Given the description of an element on the screen output the (x, y) to click on. 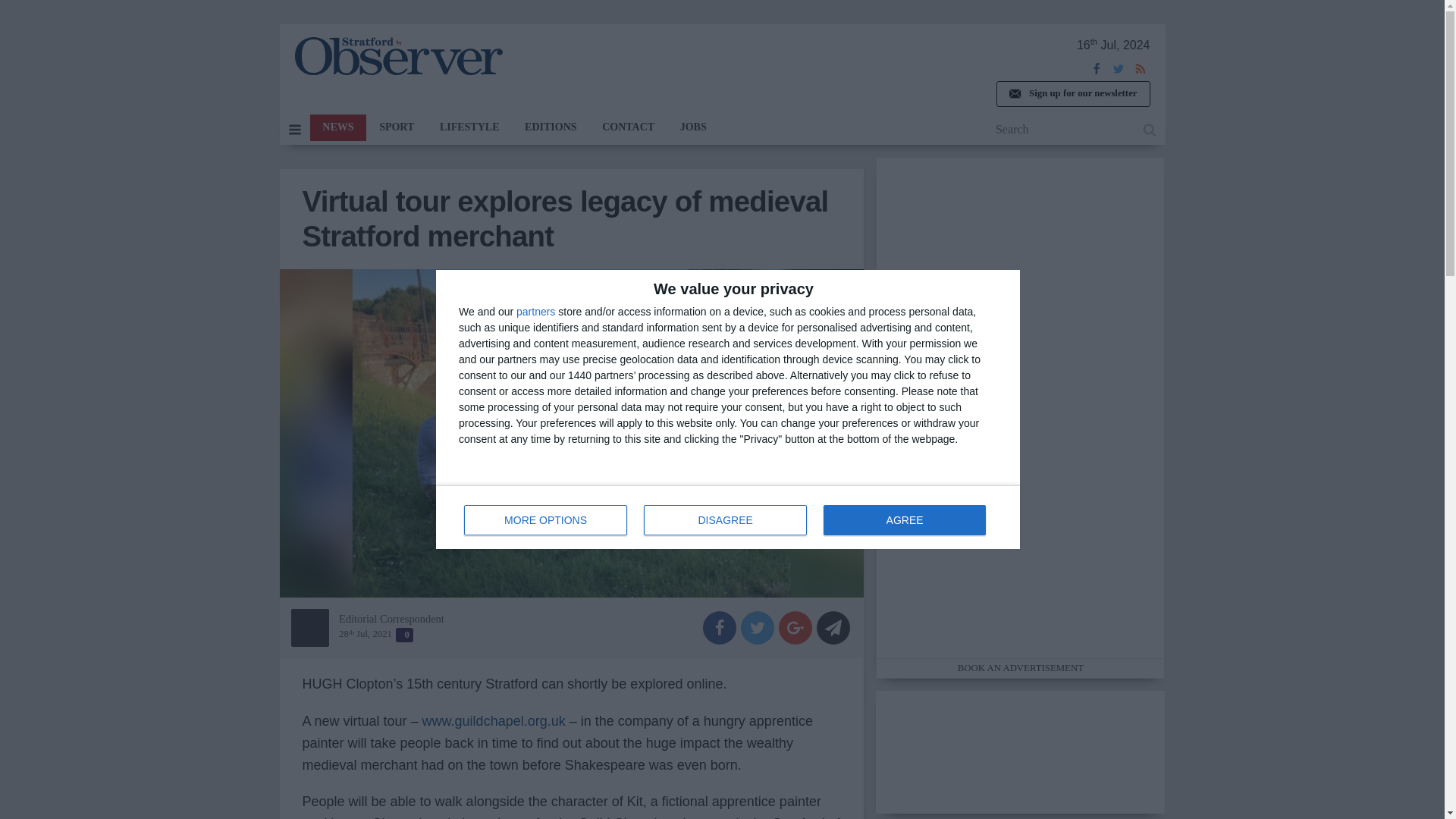
  Sign up for our newsletter (1072, 94)
partners (535, 311)
MORE OPTIONS (545, 520)
NEWS (337, 127)
AGREE (904, 520)
DISAGREE (724, 520)
LIFESTYLE (469, 127)
SPORT (396, 127)
The Stratford Observer (398, 55)
